Given the description of an element on the screen output the (x, y) to click on. 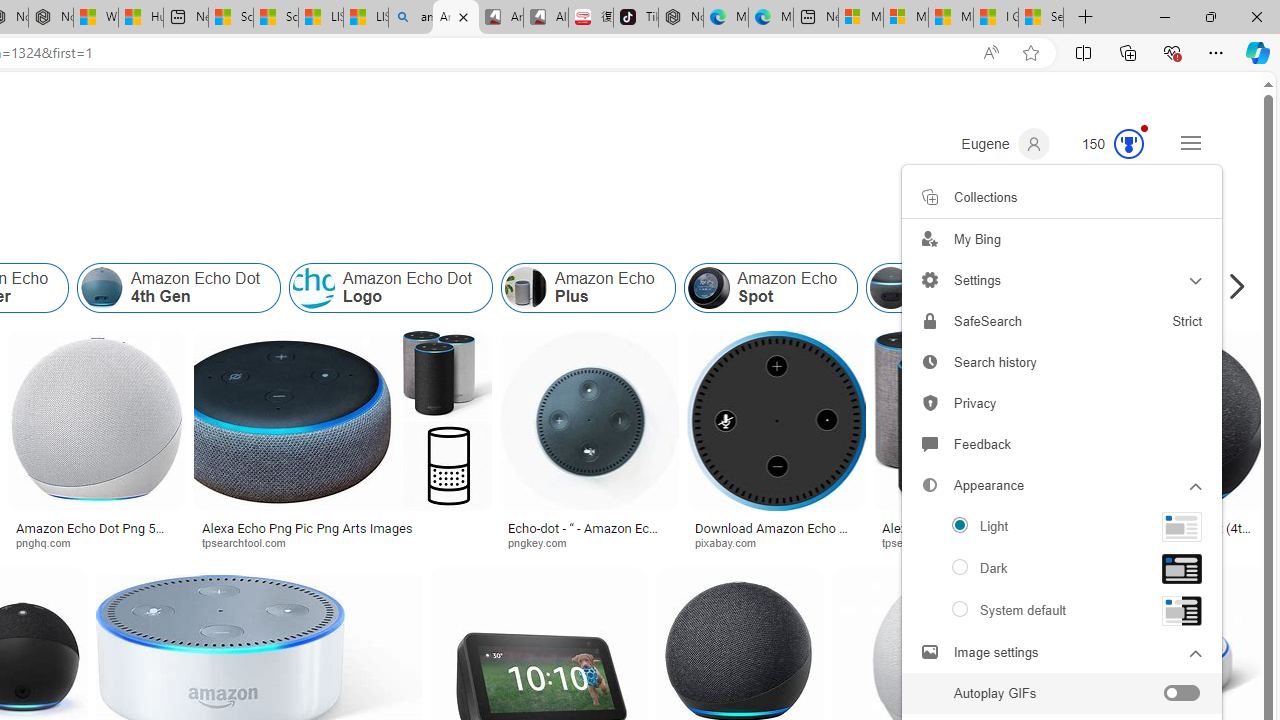
Autoplay GIFs (1062, 693)
Amazon Echo Plus (525, 287)
Scroll right (1231, 287)
Amazon Echo Dot PNG - Search Images (455, 17)
pngkey.com (544, 541)
Settings (1062, 279)
Amazon Echo Dot 4th Gen (102, 287)
To get missing image descriptions, open the context menu. (1181, 526)
Light (1062, 526)
tpsearchtool.com (976, 542)
Image result for Amazon Echo Dot PNG (1175, 421)
